Given the description of an element on the screen output the (x, y) to click on. 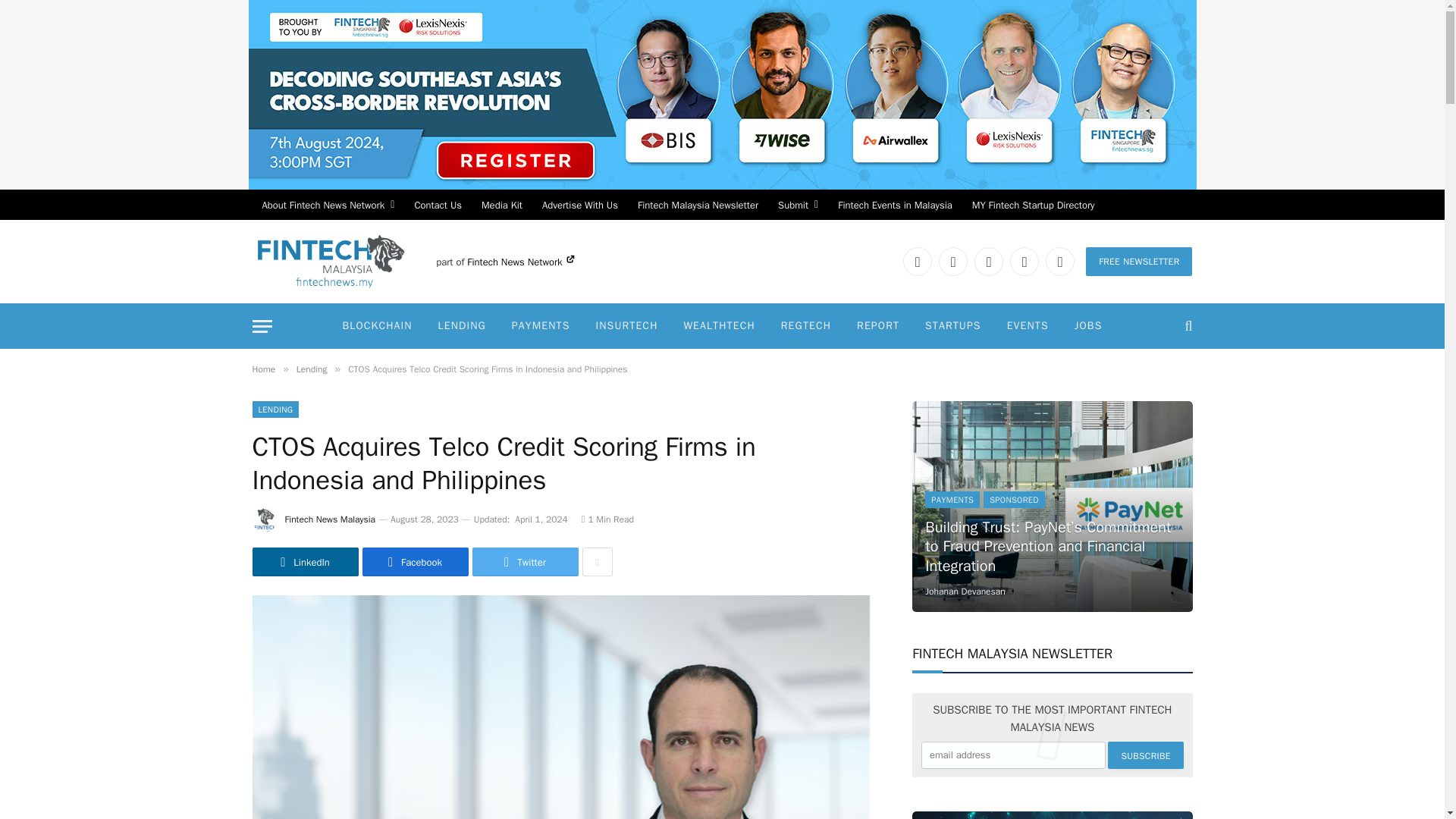
MY Fintech Startup Directory (1033, 204)
About Fintech News Network (327, 204)
Share on Facebook (415, 561)
Fintech News Network (520, 261)
Subscribe (1145, 755)
Facebook (953, 261)
Advertise With Us (579, 204)
Posts by Fintech News Malaysia (330, 519)
LinkedIn (916, 261)
Fintech Events in Malaysia (895, 204)
Share on LinkedIn (304, 561)
Fintech Malaysia Newsletter (697, 204)
Fintech News Malaysia (330, 261)
Show More Social Sharing (597, 561)
